Given the description of an element on the screen output the (x, y) to click on. 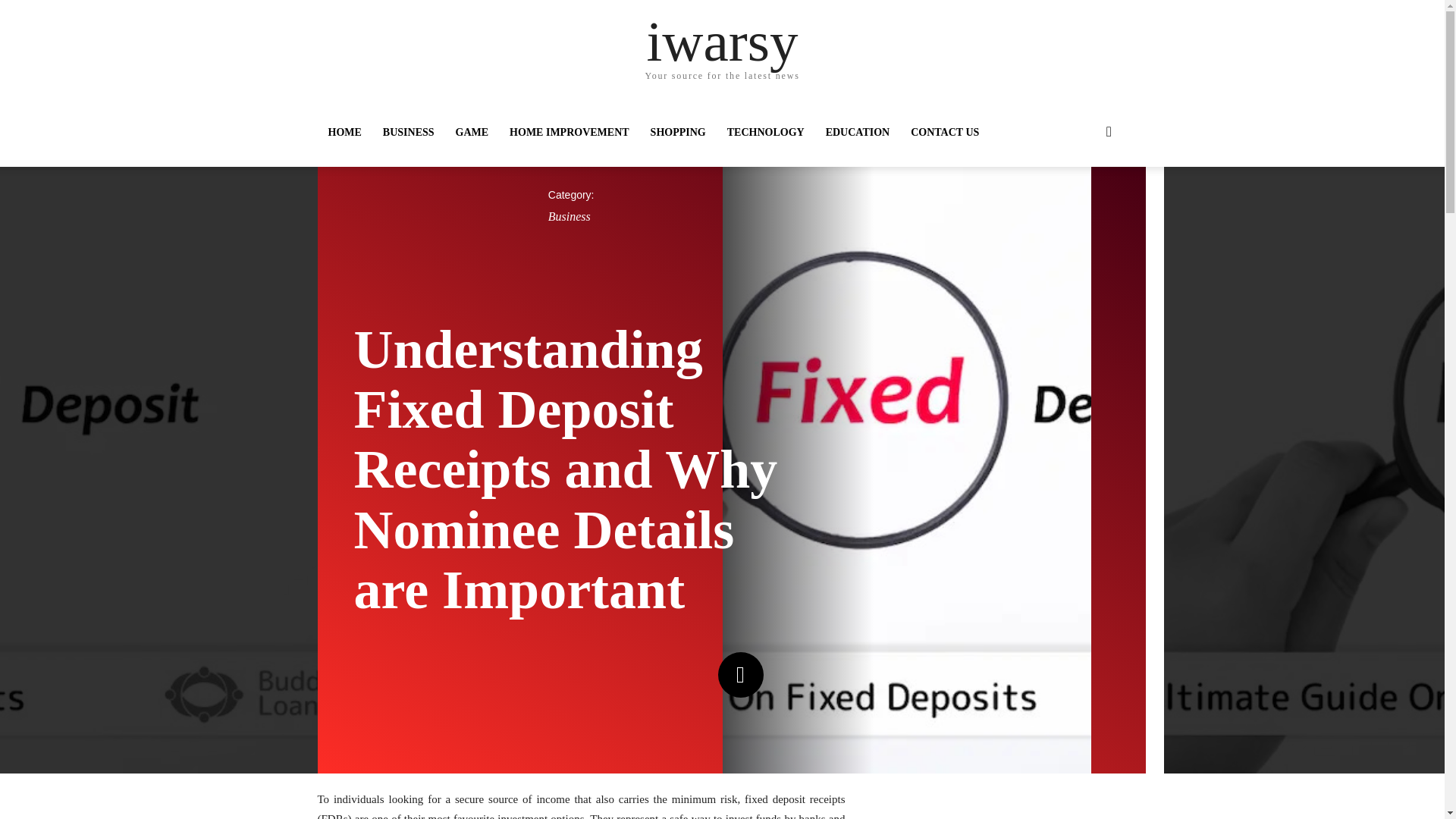
CONTACT US (944, 132)
EDUCATION (858, 132)
TECHNOLOGY (765, 132)
SHOPPING (678, 132)
Search (1085, 192)
HOME IMPROVEMENT (569, 132)
iwarsy (721, 41)
Business (569, 216)
BUSINESS (408, 132)
